Given the description of an element on the screen output the (x, y) to click on. 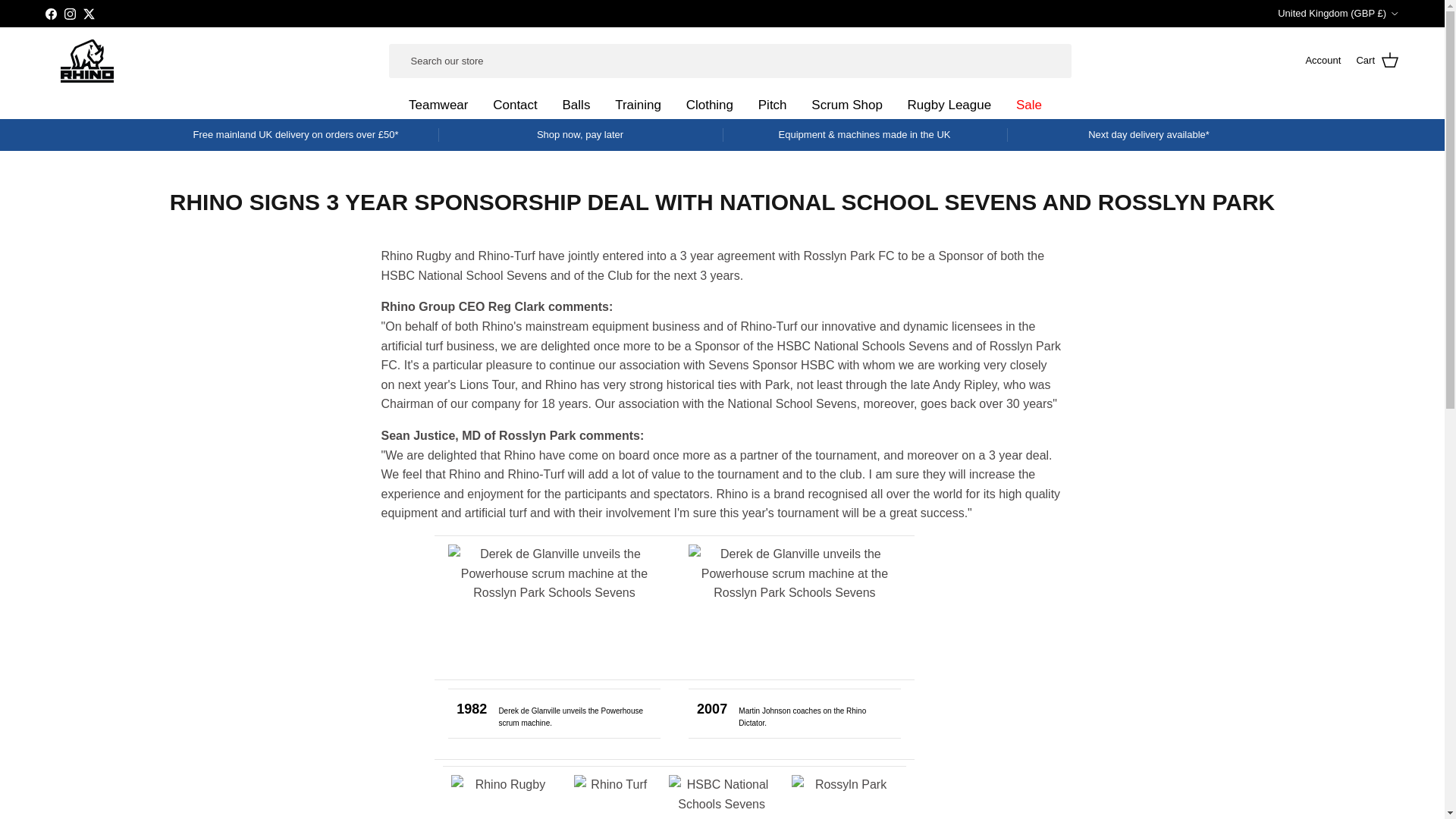
Rhino Direct on Facebook (50, 12)
Contact (511, 106)
Rhino Direct on Instagram (69, 12)
Rhino Direct (87, 60)
Facebook (50, 12)
Instagram (69, 12)
Rhino Direct on Twitter (88, 12)
Account (1322, 60)
Twitter (88, 12)
Teamwear (435, 106)
